Given the description of an element on the screen output the (x, y) to click on. 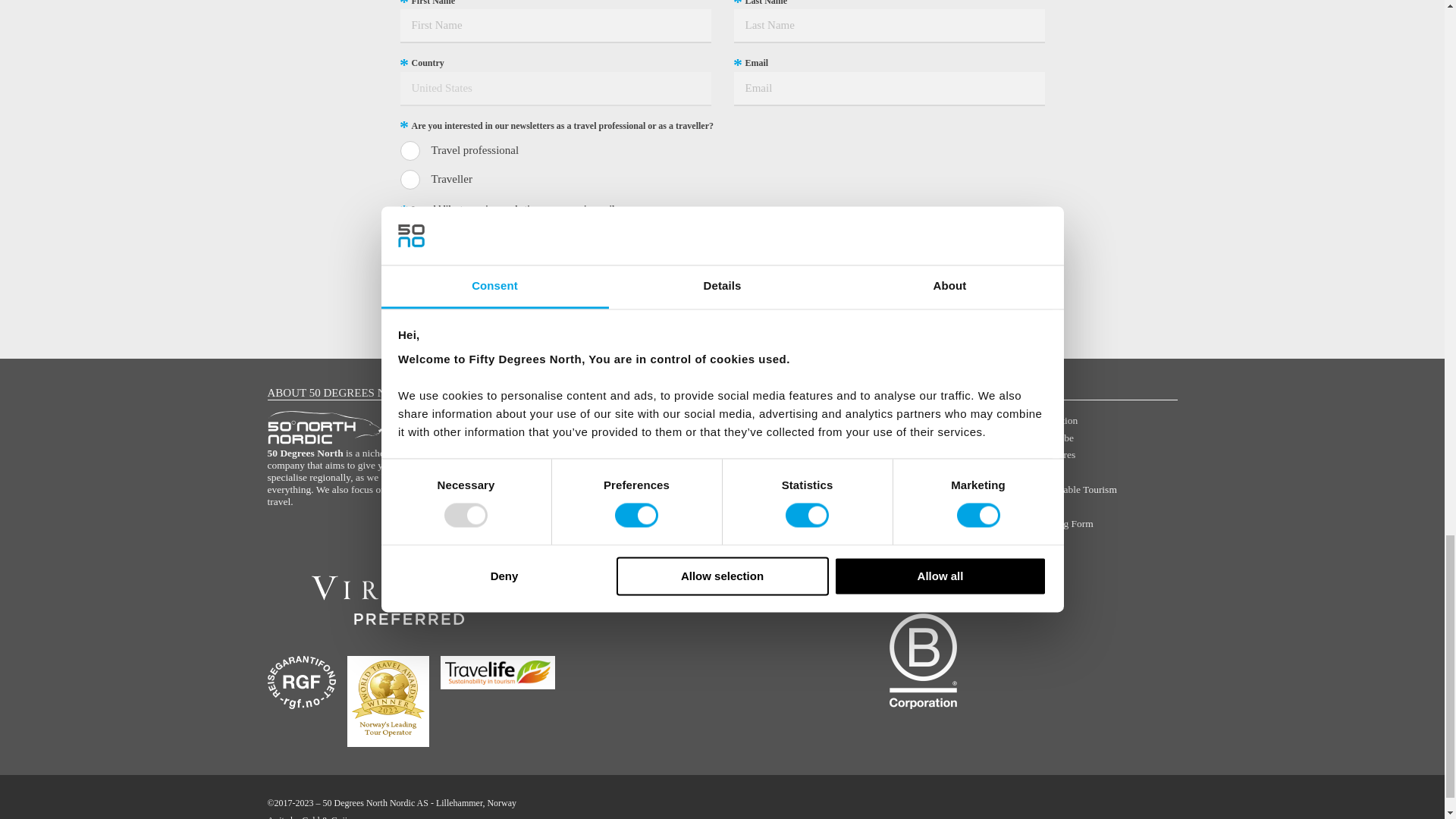
1 (410, 234)
00NVg000000RE0T (410, 150)
00NVg000000RE25 (410, 179)
